Given the description of an element on the screen output the (x, y) to click on. 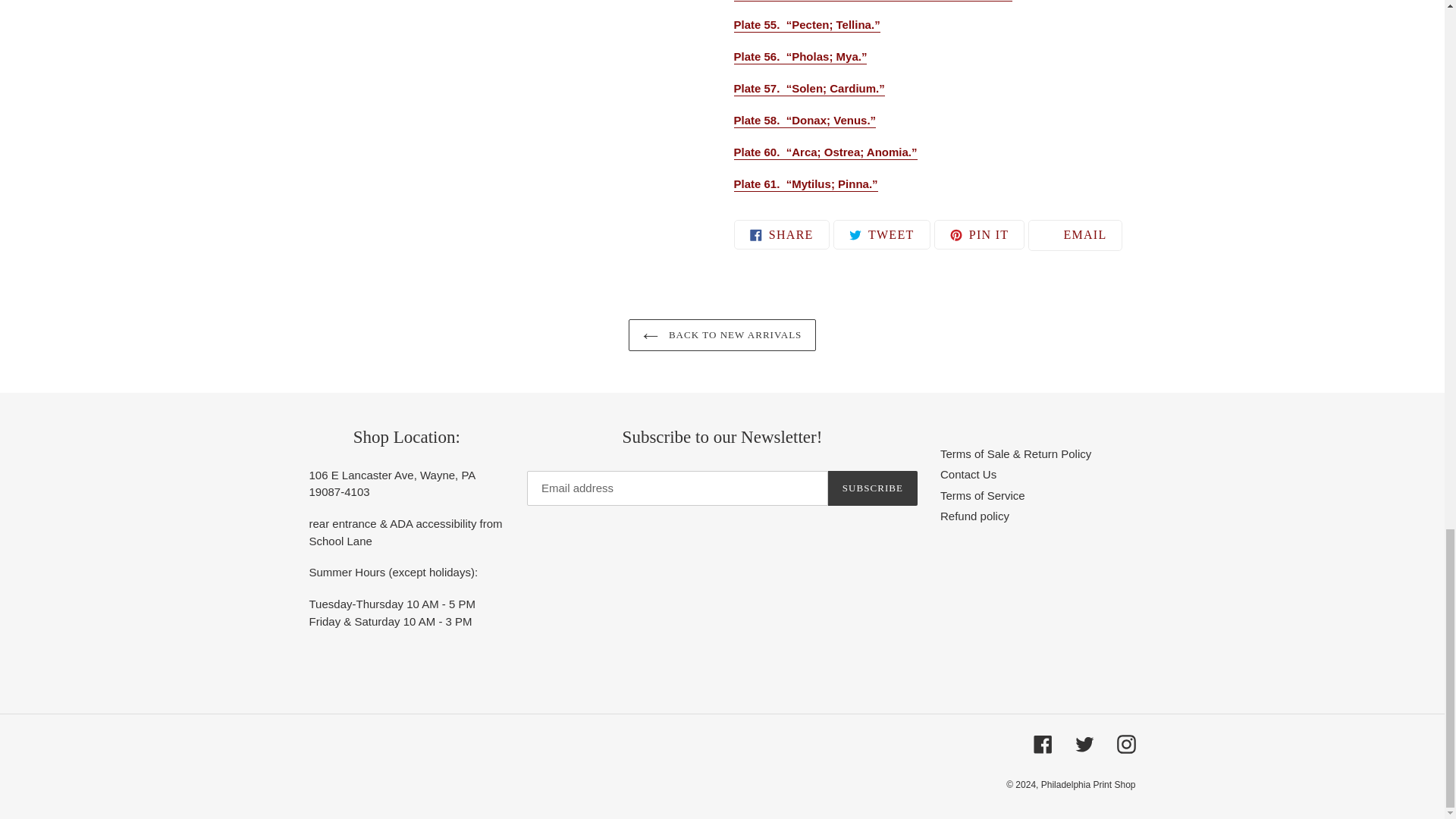
Share by Email (1074, 235)
